Given the description of an element on the screen output the (x, y) to click on. 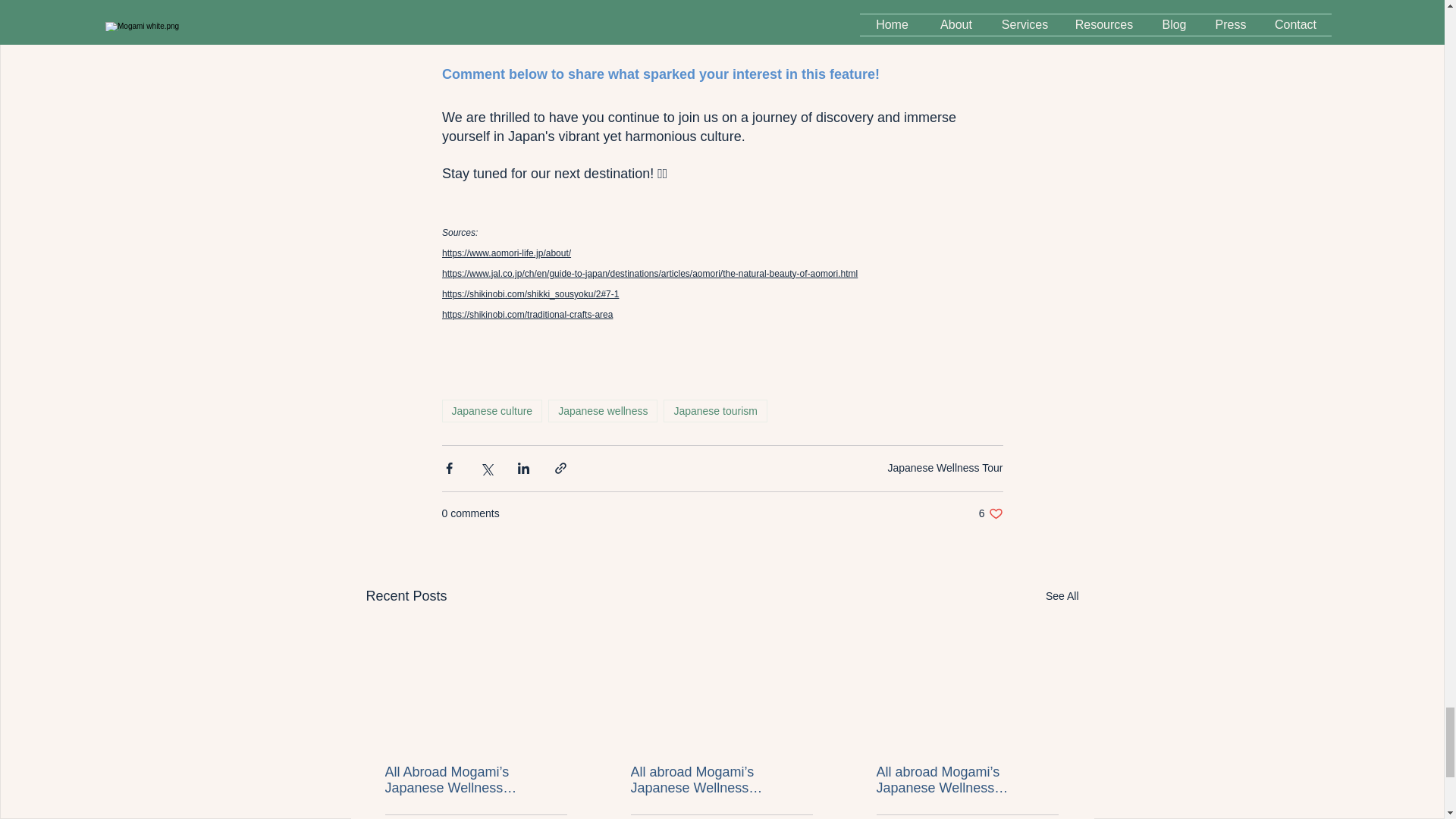
Japanese wellness (603, 410)
Japanese tourism (715, 410)
Japanese Wellness Tour (944, 467)
Japanese culture (491, 410)
See All (990, 513)
